Given the description of an element on the screen output the (x, y) to click on. 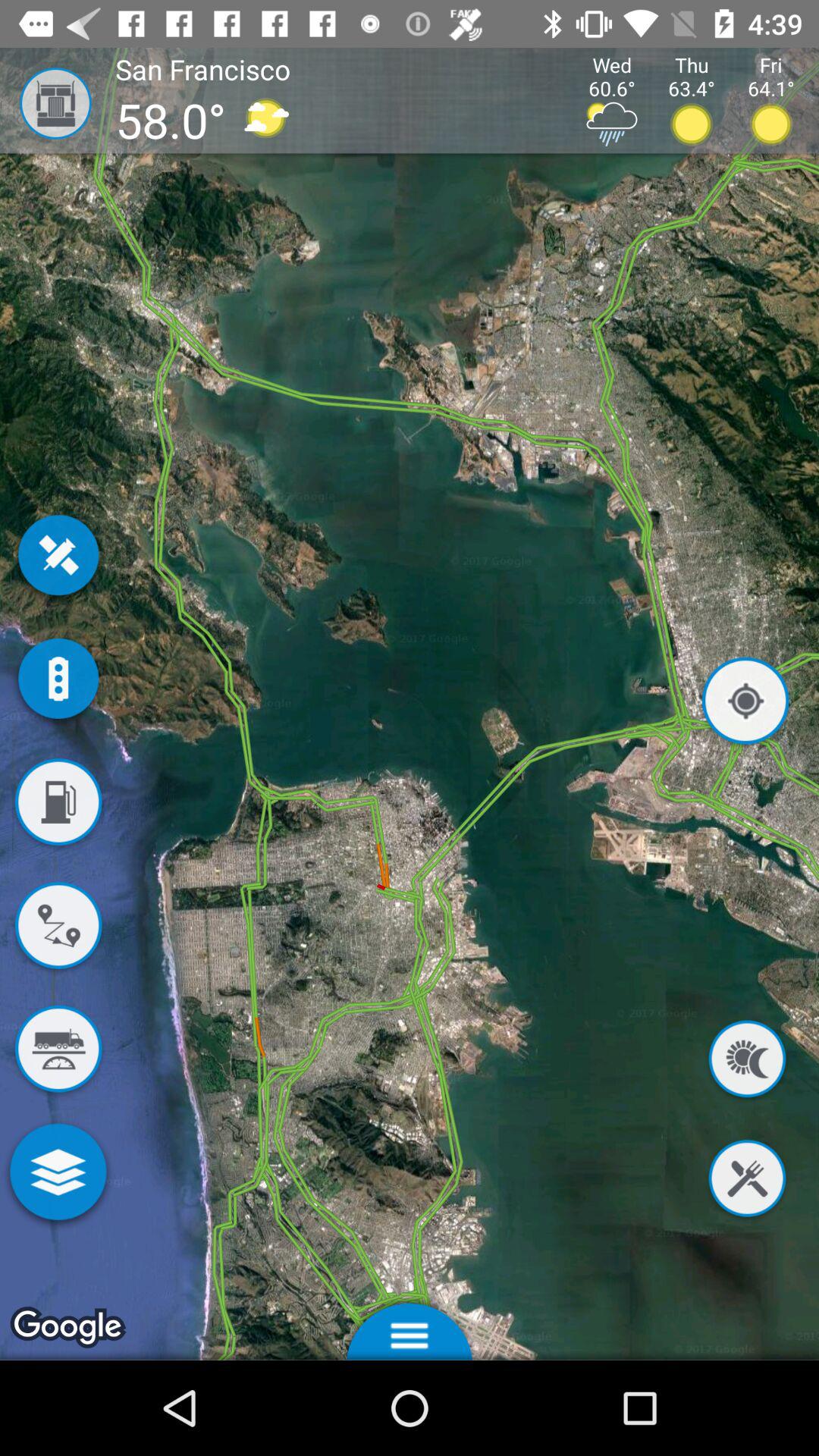
toggle day and night (747, 1061)
